Given the description of an element on the screen output the (x, y) to click on. 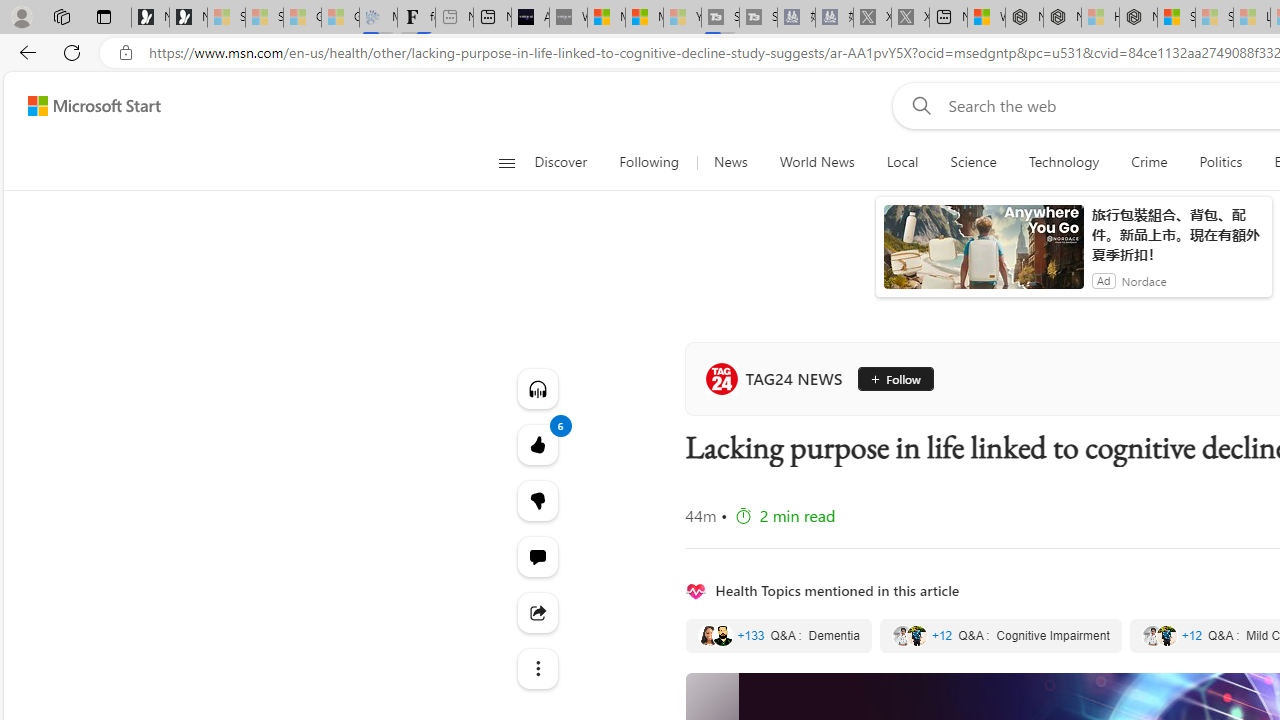
Nordace - Nordace Siena Is Not An Ordinary Backpack (1138, 17)
World News (817, 162)
Cognitive Impairment (1000, 636)
Local (902, 162)
anim-content (983, 255)
